Given the description of an element on the screen output the (x, y) to click on. 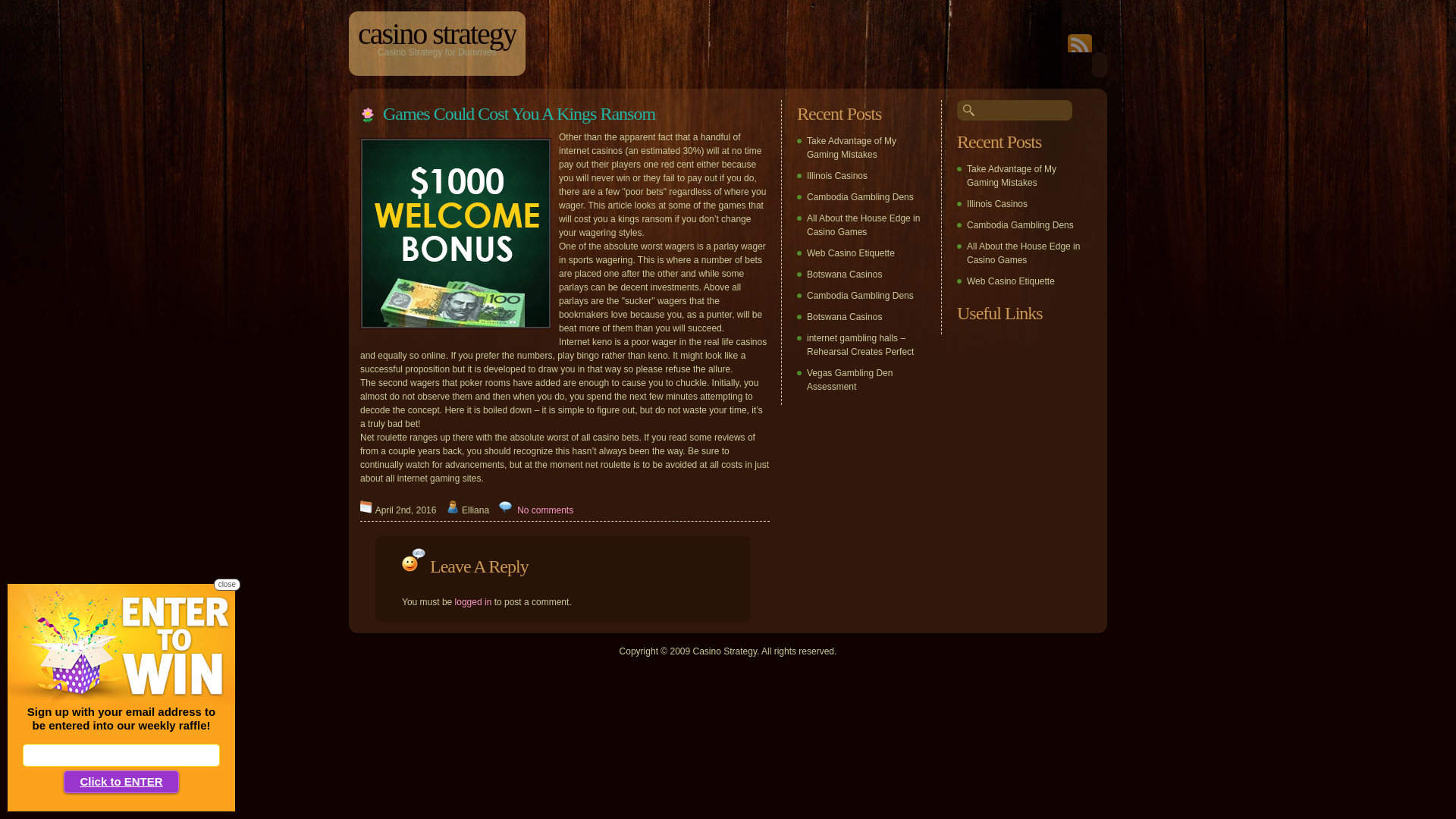
All About the House Edge in Casino Games Element type: text (862, 225)
Click to ENTER Element type: text (120, 781)
No comments Element type: text (545, 510)
Web Casino Etiquette Element type: text (1010, 281)
All About the House Edge in Casino Games Element type: text (1022, 253)
Cambodia Gambling Dens Element type: text (859, 196)
Cambodia Gambling Dens Element type: text (859, 295)
Botswana Casinos Element type: text (843, 316)
Vegas Gambling Den Assessment Element type: text (849, 379)
Take Advantage of My Gaming Mistakes Element type: text (851, 147)
casino strategy Element type: text (436, 33)
Search Element type: text (21, 7)
logged in Element type: text (473, 601)
Illinois Casinos Element type: text (996, 203)
Web Casino Etiquette Element type: text (850, 252)
Take Advantage of My Gaming Mistakes Element type: text (1011, 175)
Botswana Casinos Element type: text (843, 274)
Cambodia Gambling Dens Element type: text (1019, 224)
subscribe Element type: hover (1079, 48)
Illinois Casinos Element type: text (836, 175)
